Given the description of an element on the screen output the (x, y) to click on. 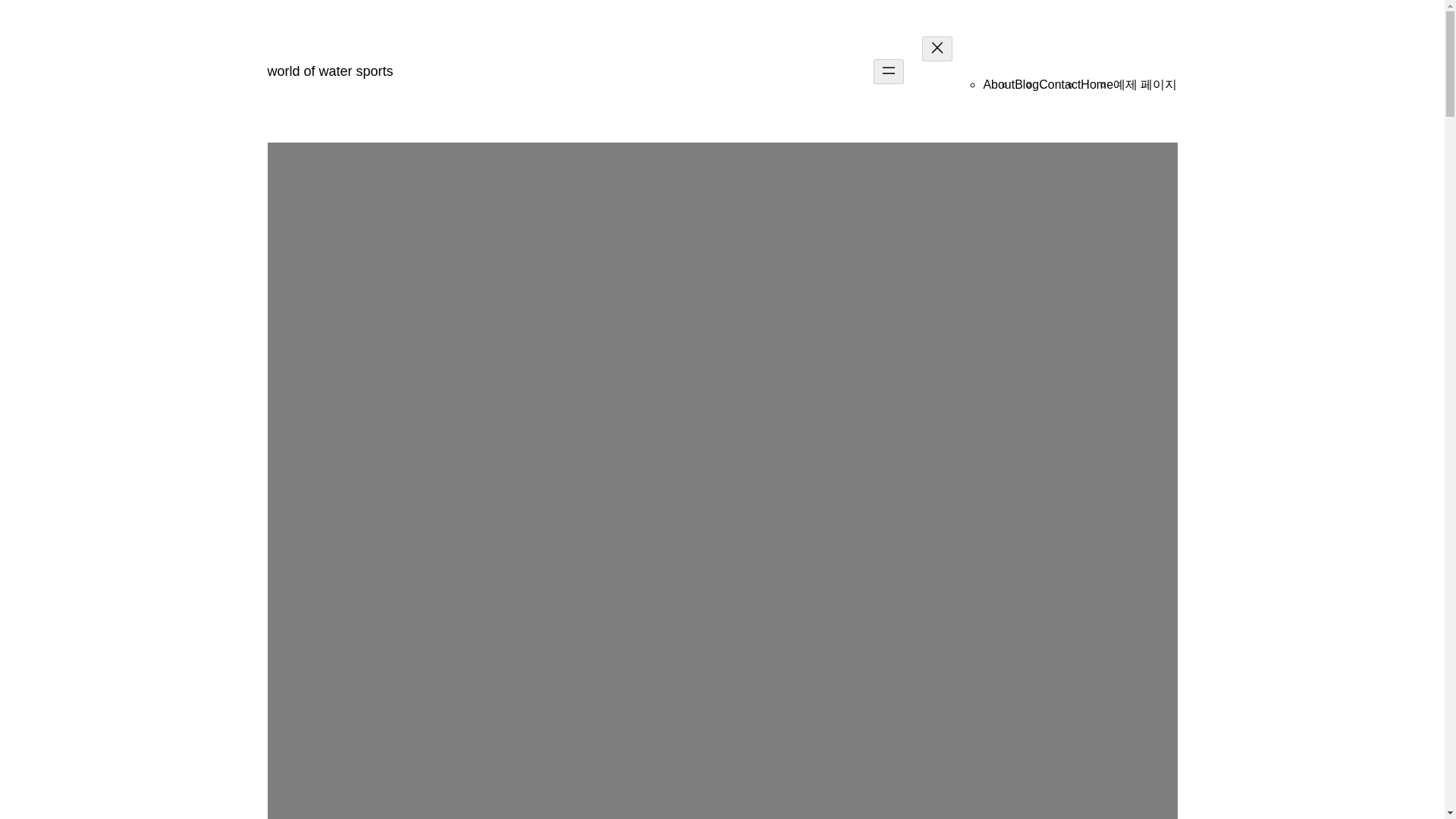
Home (1096, 83)
About (998, 83)
world of water sports (329, 70)
Blog (1026, 83)
Contact (1059, 83)
